Given the description of an element on the screen output the (x, y) to click on. 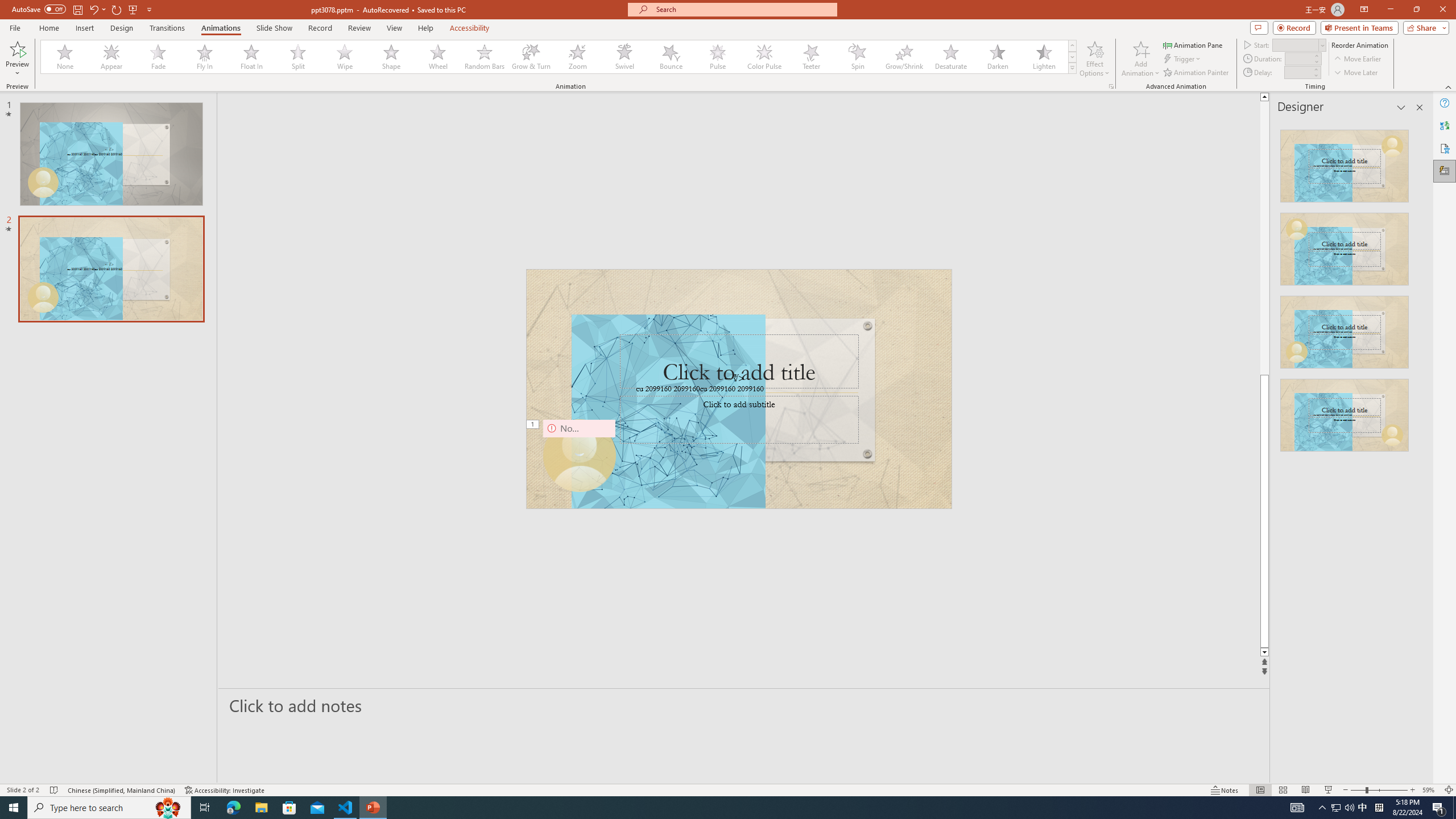
Animation, sequence 1, on Camera 9 (532, 424)
Spin (857, 56)
Subtitle TextBox (739, 419)
Random Bars (484, 56)
Recommended Design: Design Idea (1344, 162)
Trigger (1182, 58)
TextBox 61 (737, 389)
Less (1315, 75)
Lighten (1043, 56)
